Given the description of an element on the screen output the (x, y) to click on. 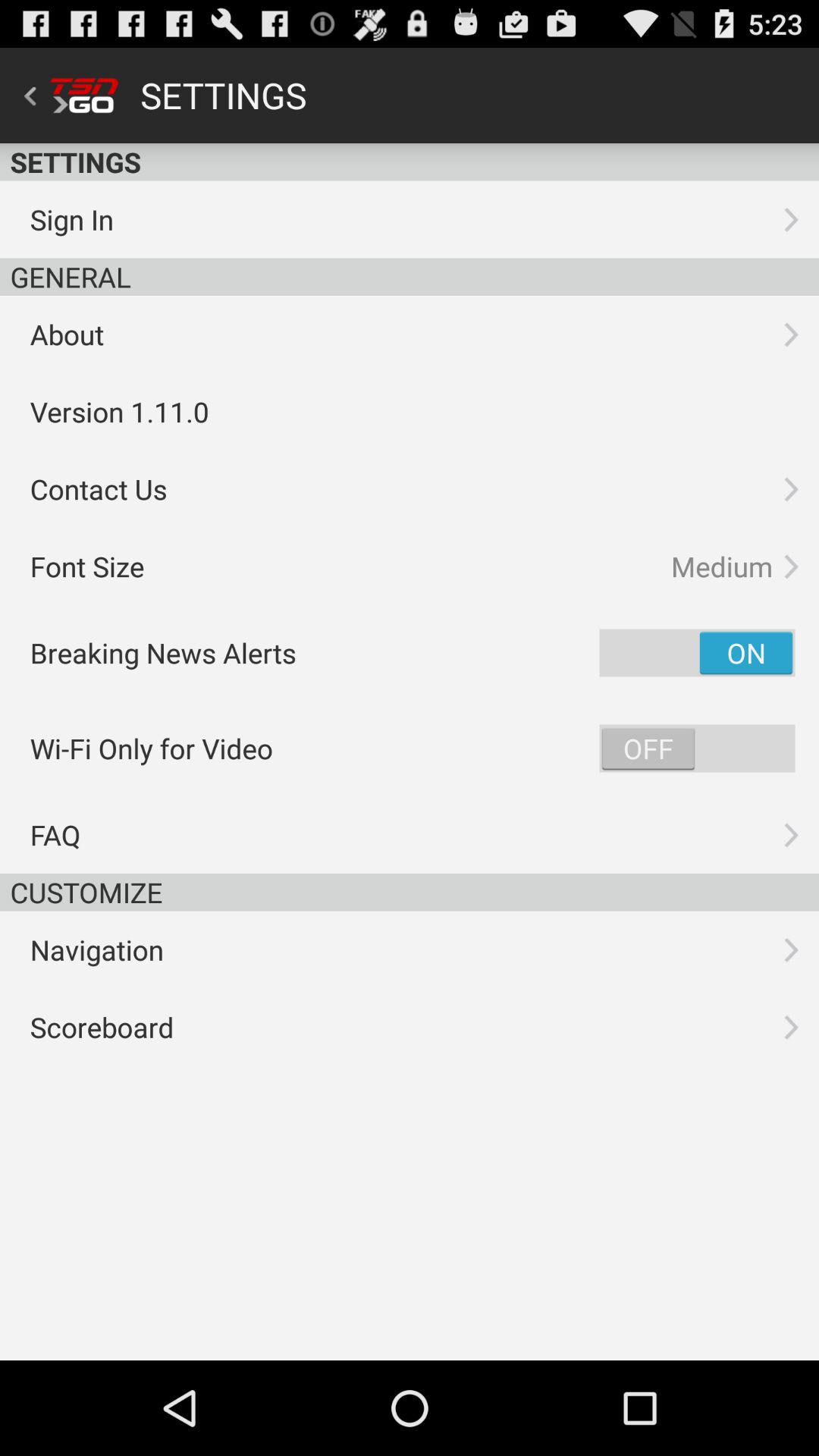
toggle wi-fi only for video (697, 748)
